Given the description of an element on the screen output the (x, y) to click on. 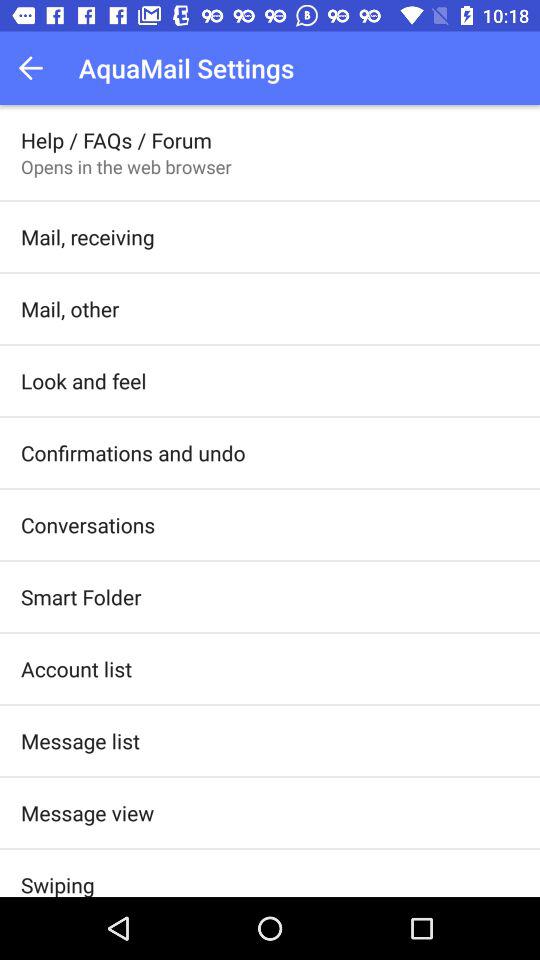
press the message list icon (80, 740)
